Given the description of an element on the screen output the (x, y) to click on. 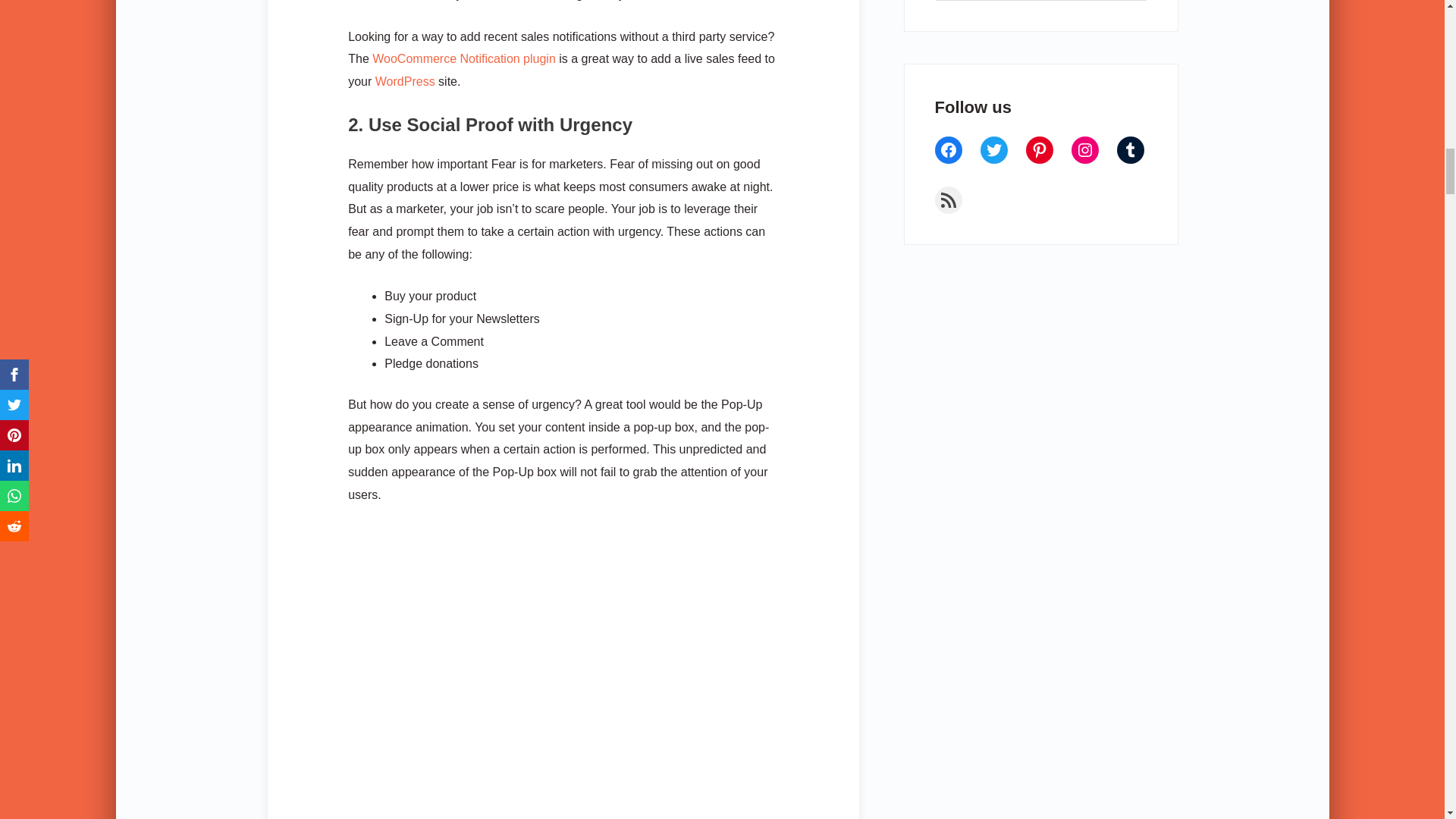
WordPress (405, 81)
WordPress (405, 81)
Search (1130, 4)
Search (1130, 4)
WooCommerce Notification plugin (464, 58)
